Given the description of an element on the screen output the (x, y) to click on. 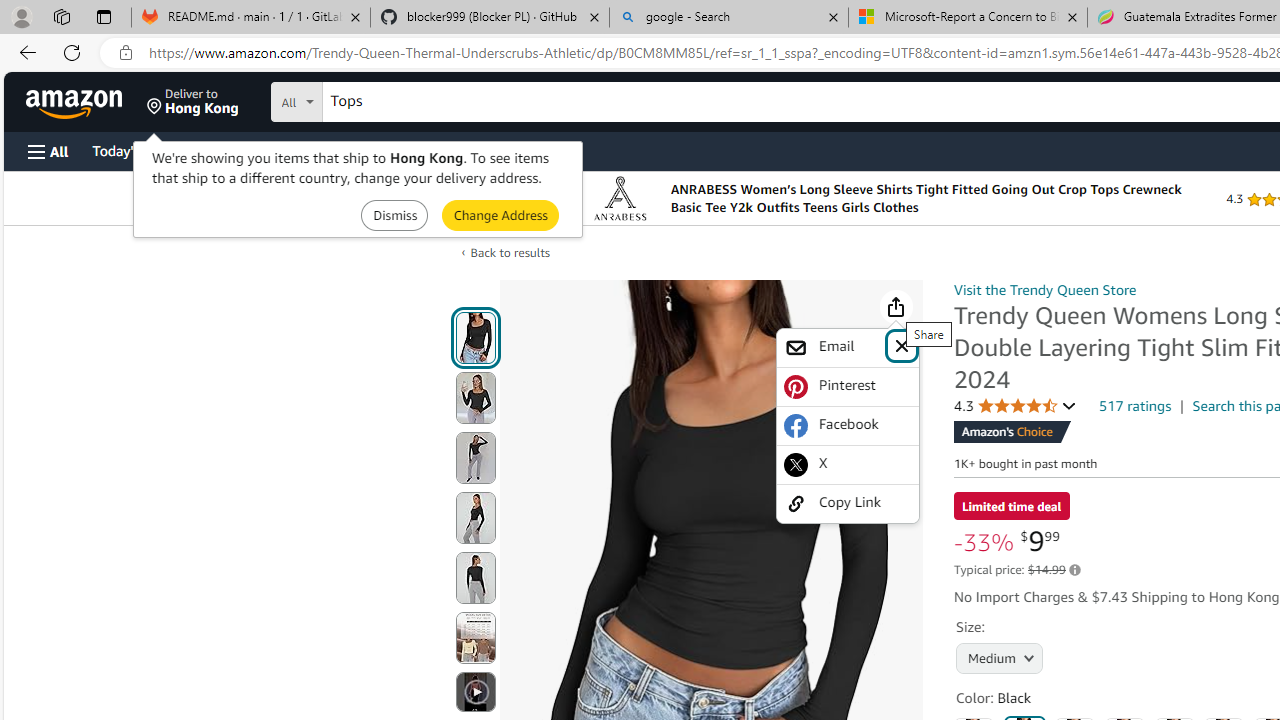
Submit (499, 214)
Facebook (848, 425)
Registry (360, 150)
4.3 4.3 out of 5 stars (1015, 406)
Logo (619, 198)
Close Share Popup (902, 344)
Facebook (847, 425)
Copy Link (848, 502)
Today's Deals (134, 150)
Share (896, 307)
Copy Link (847, 503)
Visit the Trendy Queen Store (1044, 289)
